Given the description of an element on the screen output the (x, y) to click on. 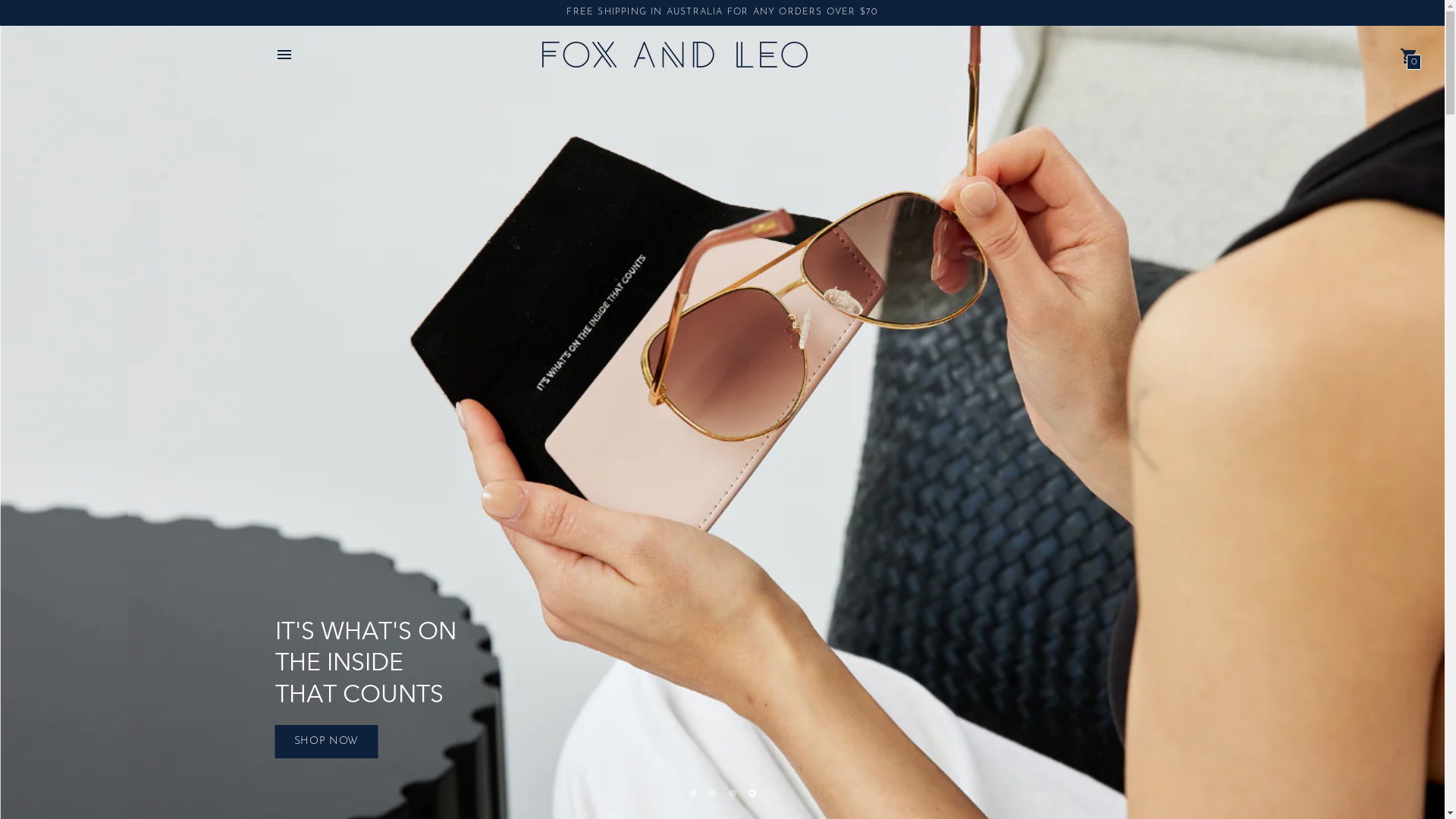
0 Element type: text (1408, 55)
FREE SHIPPING IN AUSTRALIA FOR ANY ORDERS OVER $70 Element type: text (721, 11)
SHOP NOW Element type: text (325, 741)
